Given the description of an element on the screen output the (x, y) to click on. 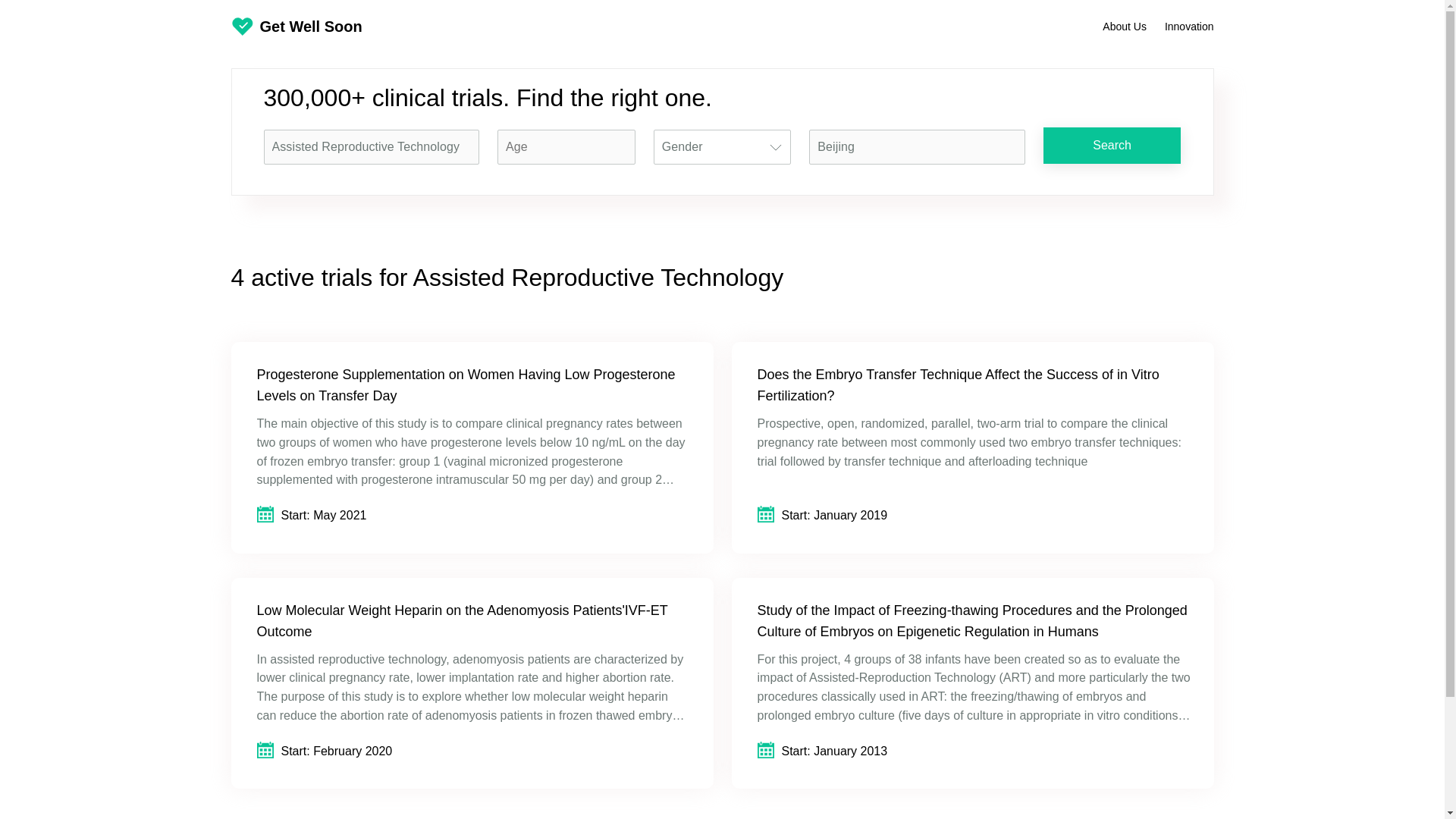
Search (1111, 145)
Get Well Soon (295, 26)
Innovation (1189, 25)
Assisted Reproductive Technology (371, 145)
About Us (1124, 25)
Beijing (917, 145)
